Given the description of an element on the screen output the (x, y) to click on. 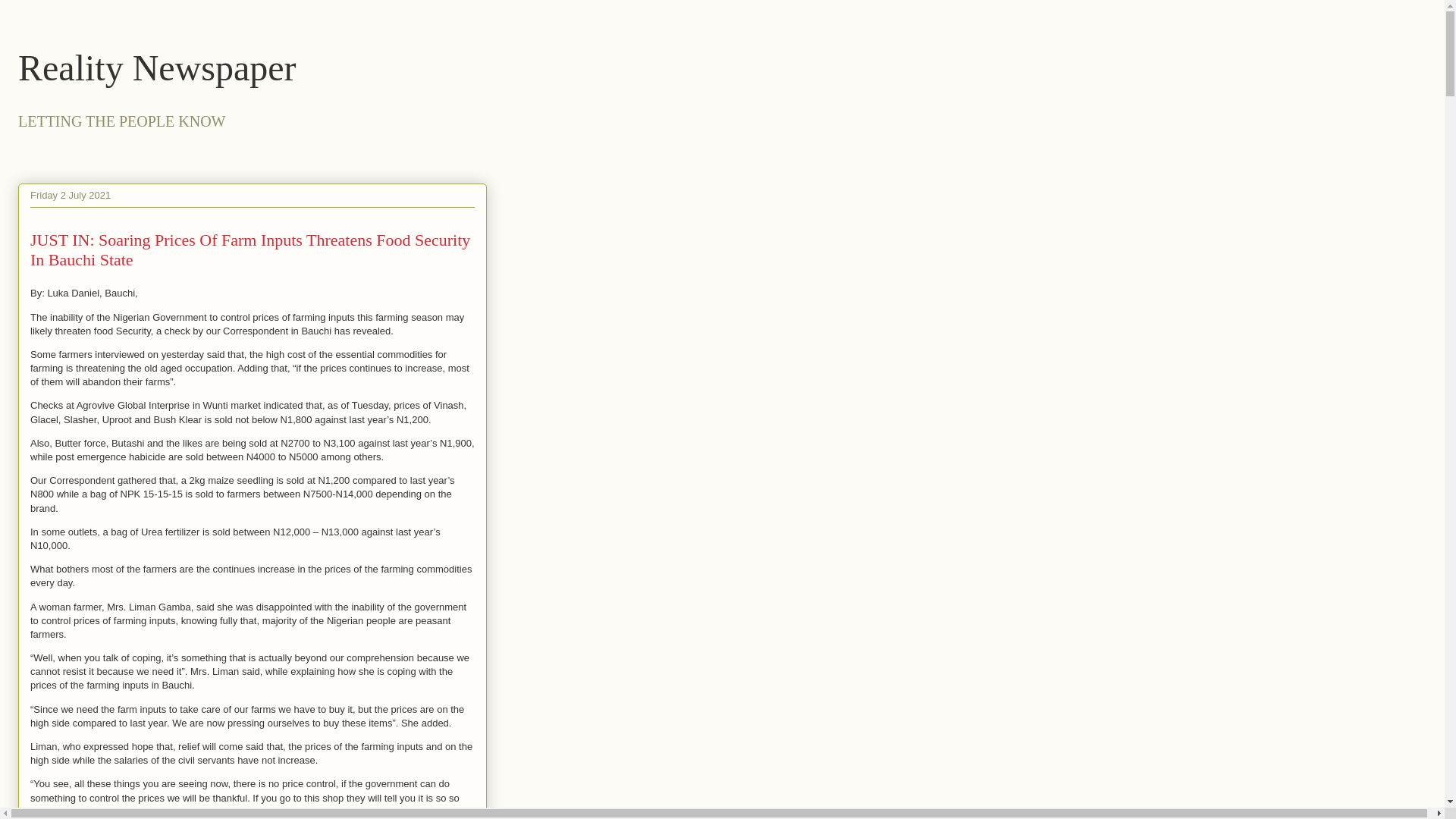
Reality Newspaper (157, 67)
